Given the description of an element on the screen output the (x, y) to click on. 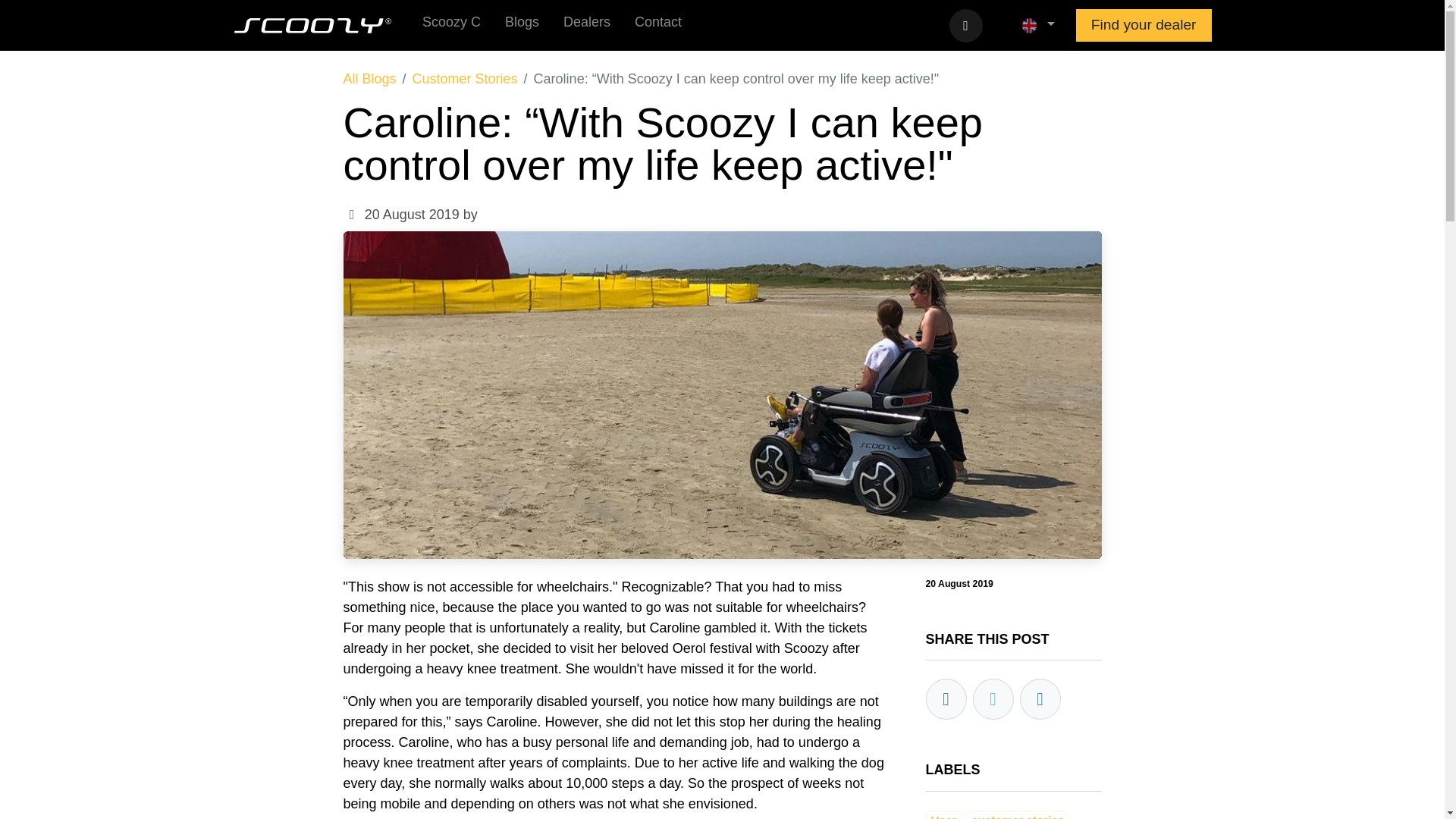
Scoozy (311, 25)
Find your dealer (1143, 25)
Share on LinkedIn (1039, 698)
Scoozy C (451, 25)
Share on Twitter (992, 698)
Search (965, 25)
Contact (657, 25)
Customer Stories (465, 78)
All Blogs (369, 78)
Share on Facebook (945, 698)
